Given the description of an element on the screen output the (x, y) to click on. 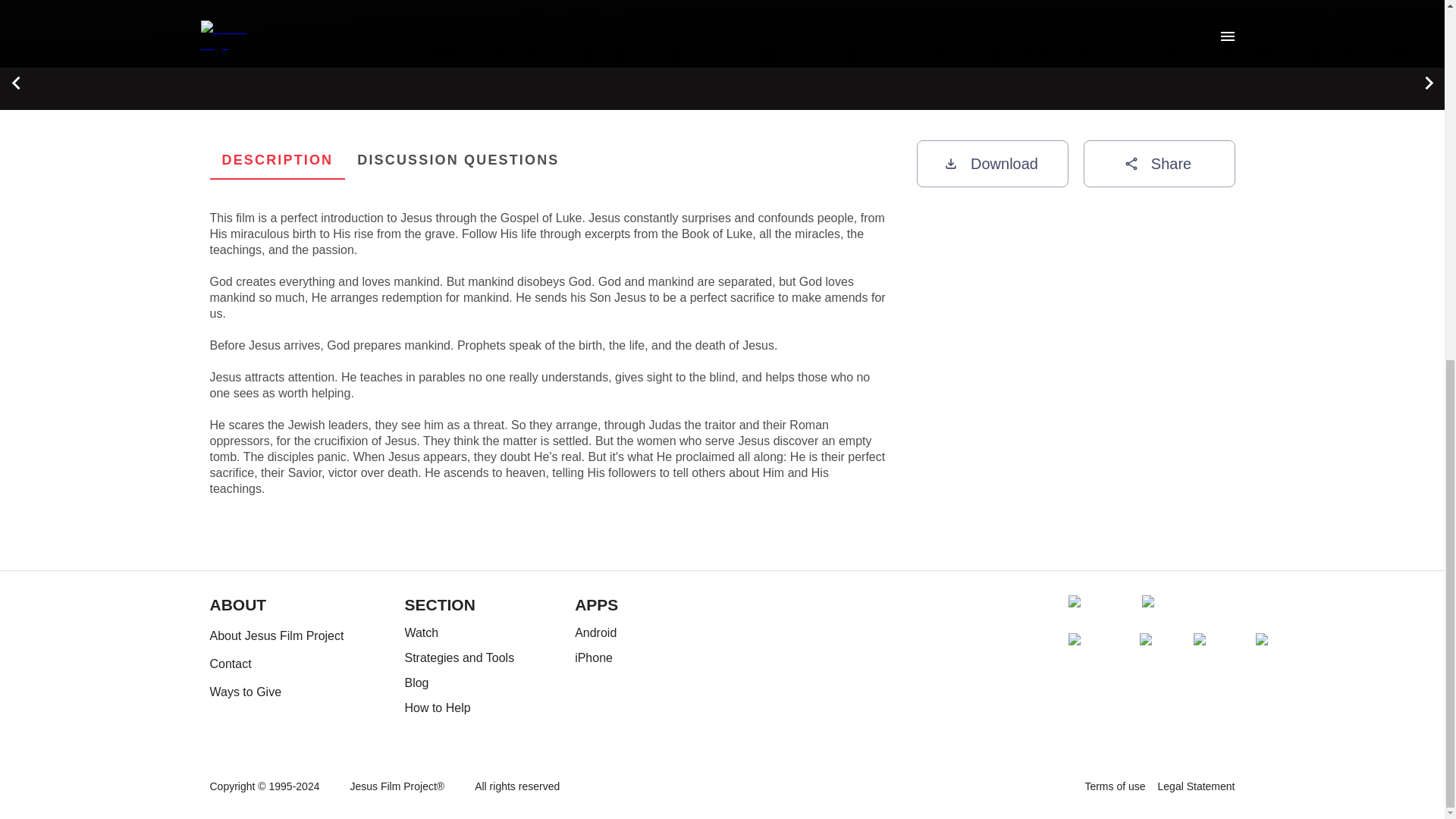
Share (547, 159)
DISCUSSION QUESTIONS (1158, 163)
iPhone (457, 159)
Watch (596, 657)
DESCRIPTION (458, 632)
Legal Statement (277, 159)
Download (1195, 786)
About Jesus Film Project (991, 163)
How to Help (276, 635)
Android (458, 707)
Terms of use (596, 632)
Blog (1114, 786)
Strategies and Tools (458, 682)
Ways to Give (458, 657)
